Given the description of an element on the screen output the (x, y) to click on. 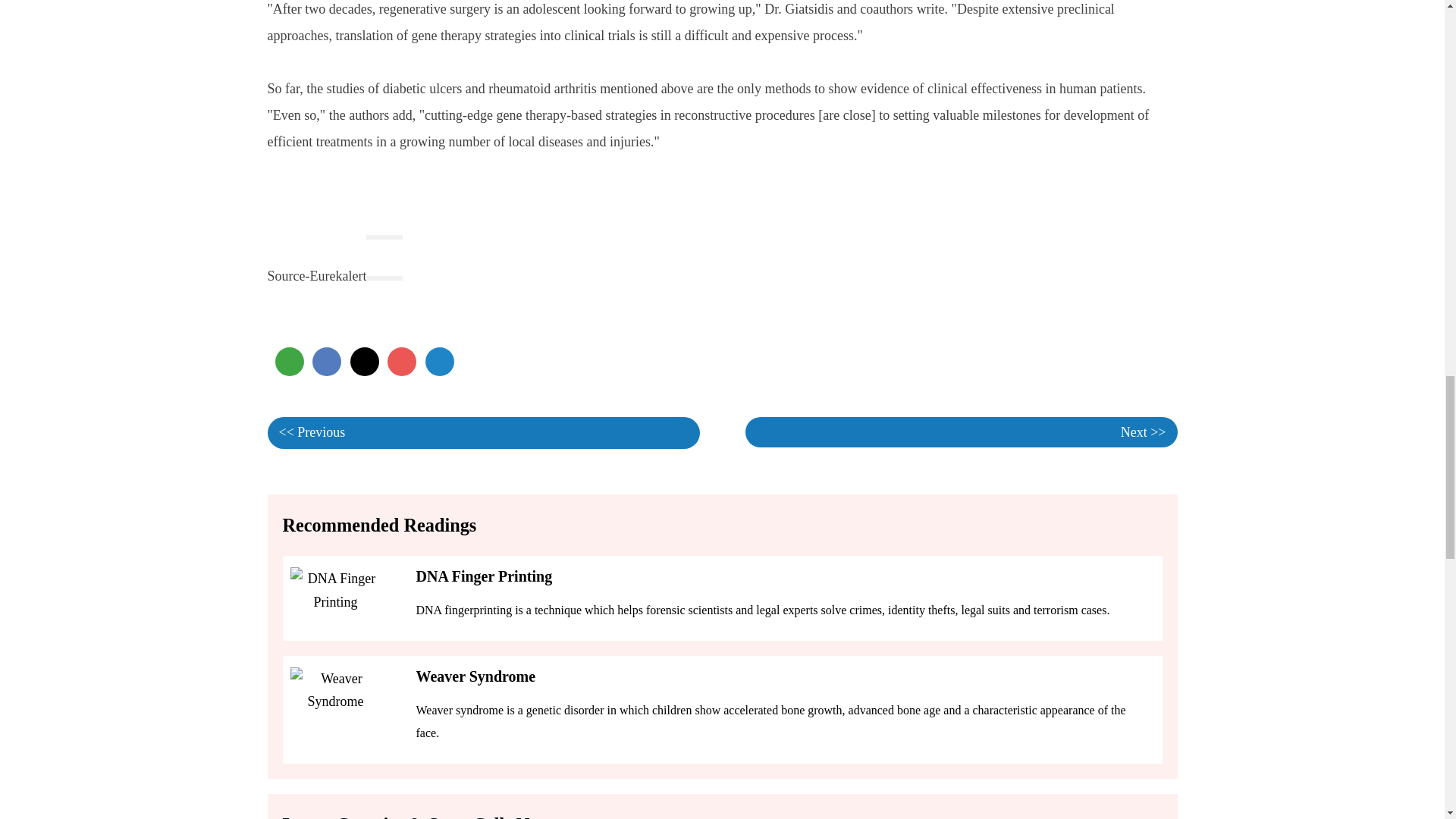
Facebook (326, 361)
Print This Page (1121, 361)
Linkedin (438, 361)
Email This (1152, 361)
Twitter (364, 361)
Whatsapp (288, 361)
Twitter (364, 361)
DNA Finger Printing (482, 576)
